Given the description of an element on the screen output the (x, y) to click on. 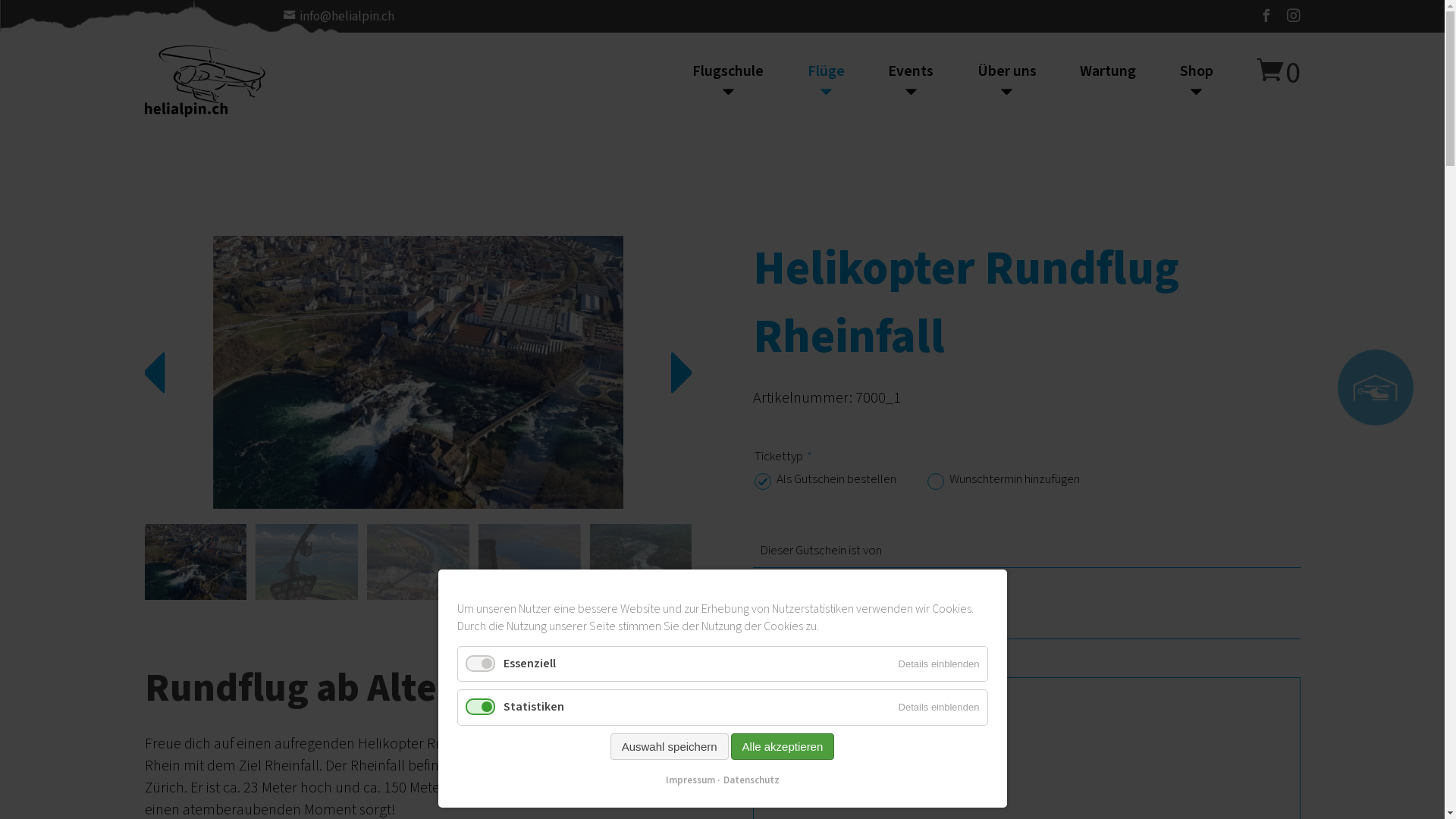
Impressum Element type: text (690, 780)
Details einblenden Element type: text (939, 707)
Stein am Rhein Element type: hover (418, 561)
Datenschutz Element type: text (748, 780)
Rundflug ab Altenrhein Element type: hover (418, 371)
Wartung Element type: text (1107, 71)
 info@helialpin.ch Element type: text (338, 16)
Events Element type: text (910, 81)
Untersee Element type: hover (529, 561)
Helikopterflug Rheinfall Element type: hover (306, 561)
Flugschule Element type: text (738, 81)
Helialpin auf Instagram Element type: hover (1290, 16)
Wasserfall ab Sitterdorf Element type: hover (640, 561)
Alle akzeptieren Element type: text (782, 746)
Shop Element type: text (1185, 81)
Rundflug ab Altenrhein Element type: hover (195, 561)
0 Element type: text (1276, 71)
Details einblenden Element type: text (939, 663)
Auswahl speichern Element type: text (669, 746)
Helialpin auf Facebook Element type: hover (1269, 16)
